Given the description of an element on the screen output the (x, y) to click on. 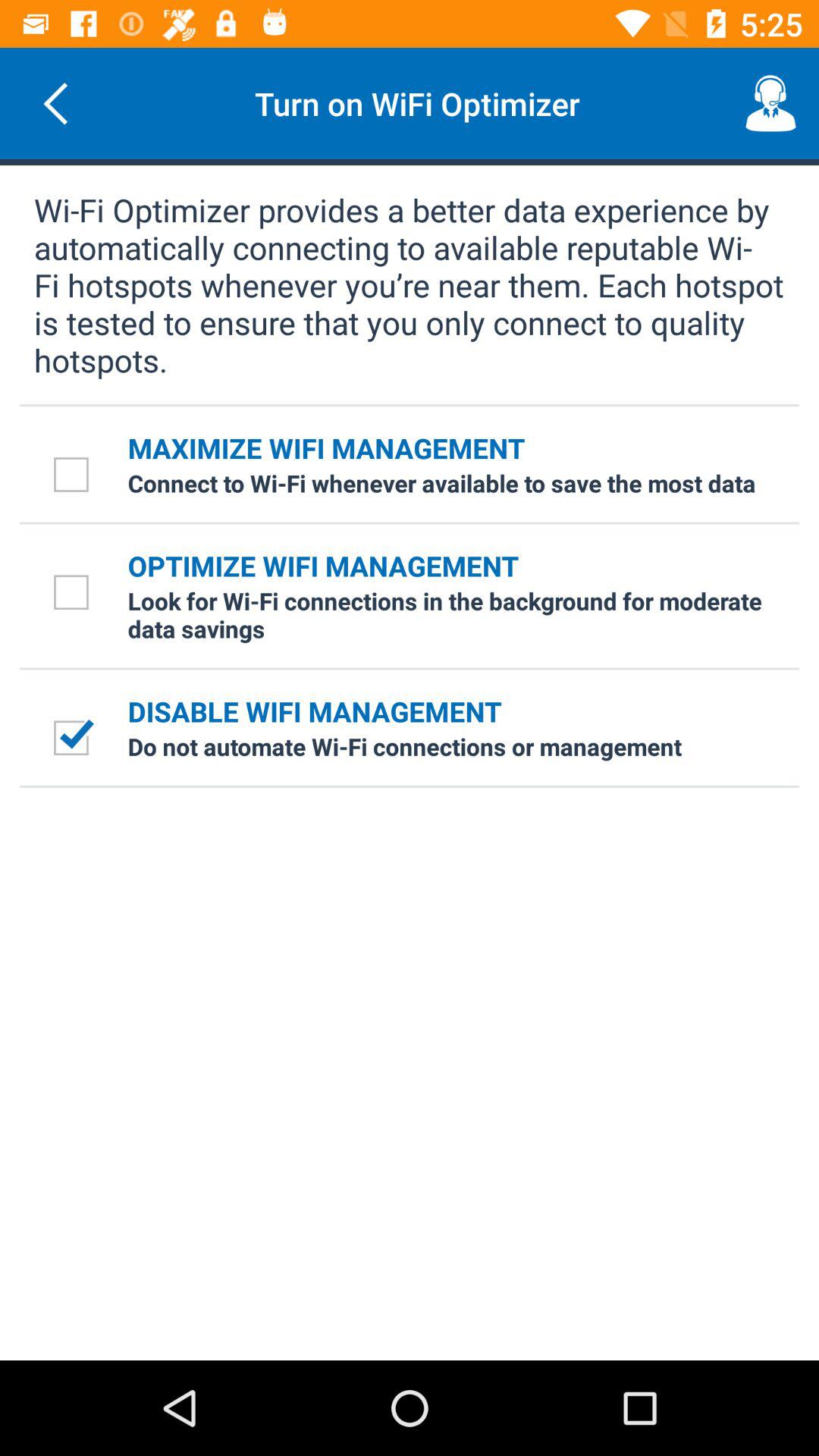
open icon next to the maximize wifi management icon (73, 473)
